Given the description of an element on the screen output the (x, y) to click on. 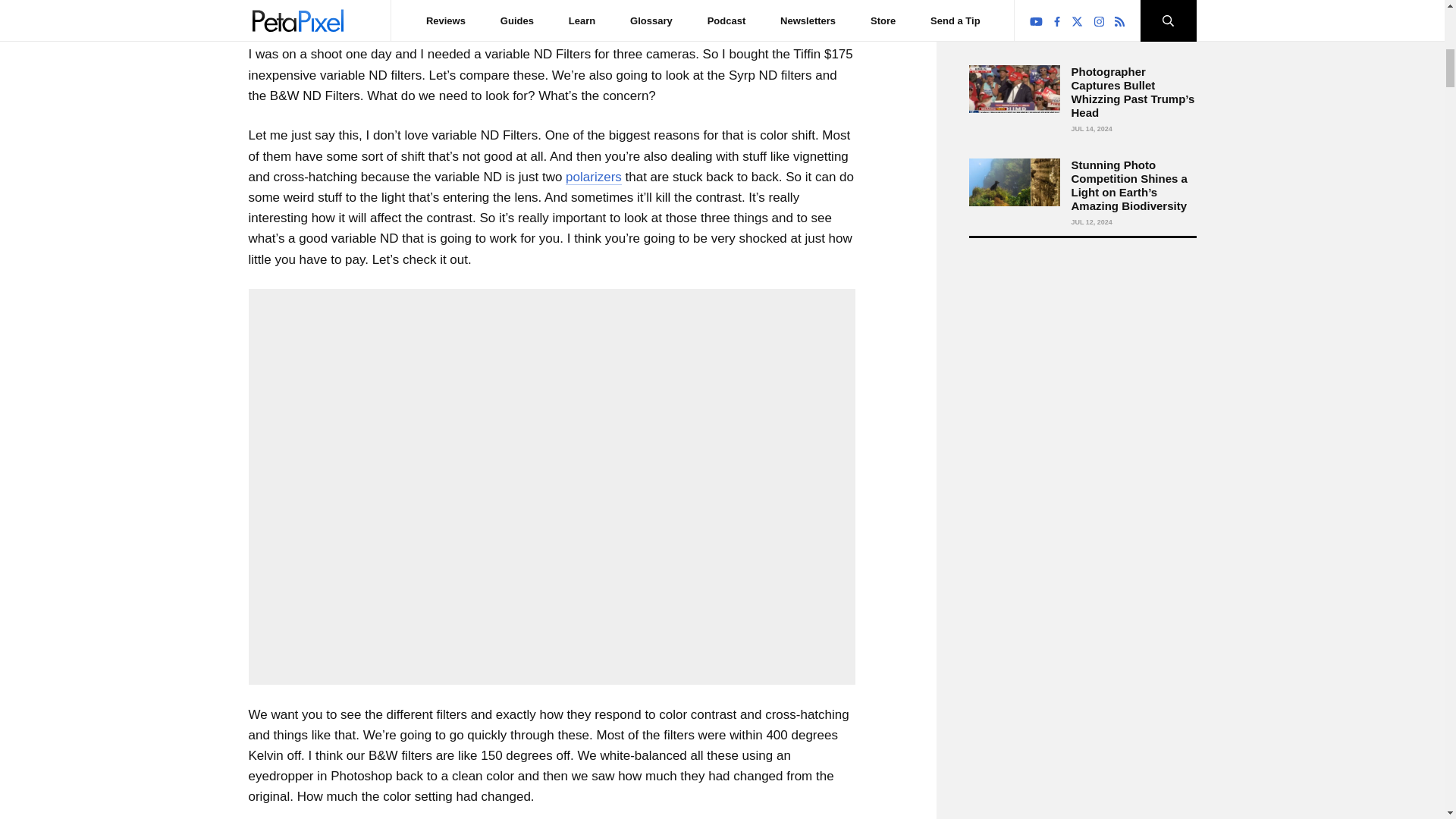
polarizers (593, 177)
